Given the description of an element on the screen output the (x, y) to click on. 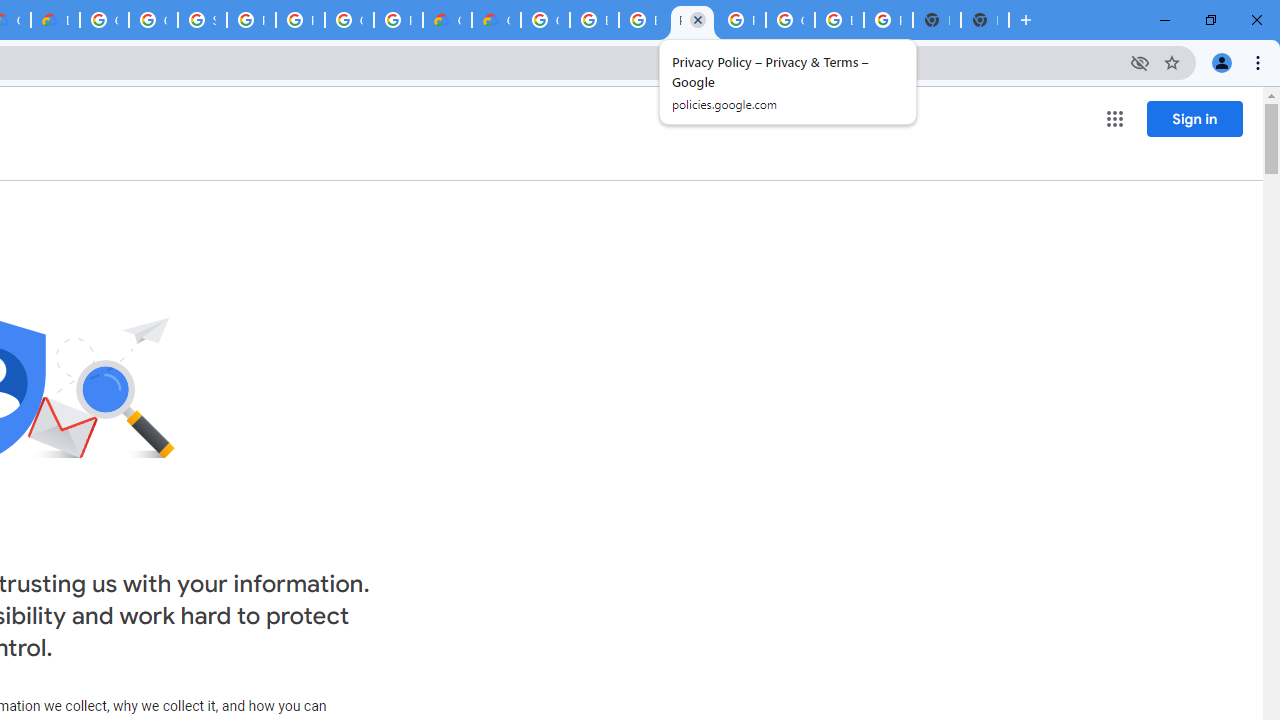
Sign in - Google Accounts (201, 20)
New Tab (984, 20)
Google Cloud Estimate Summary (496, 20)
Google Cloud Platform (790, 20)
Browse Chrome as a guest - Computer - Google Chrome Help (594, 20)
Browse Chrome as a guest - Computer - Google Chrome Help (643, 20)
